Given the description of an element on the screen output the (x, y) to click on. 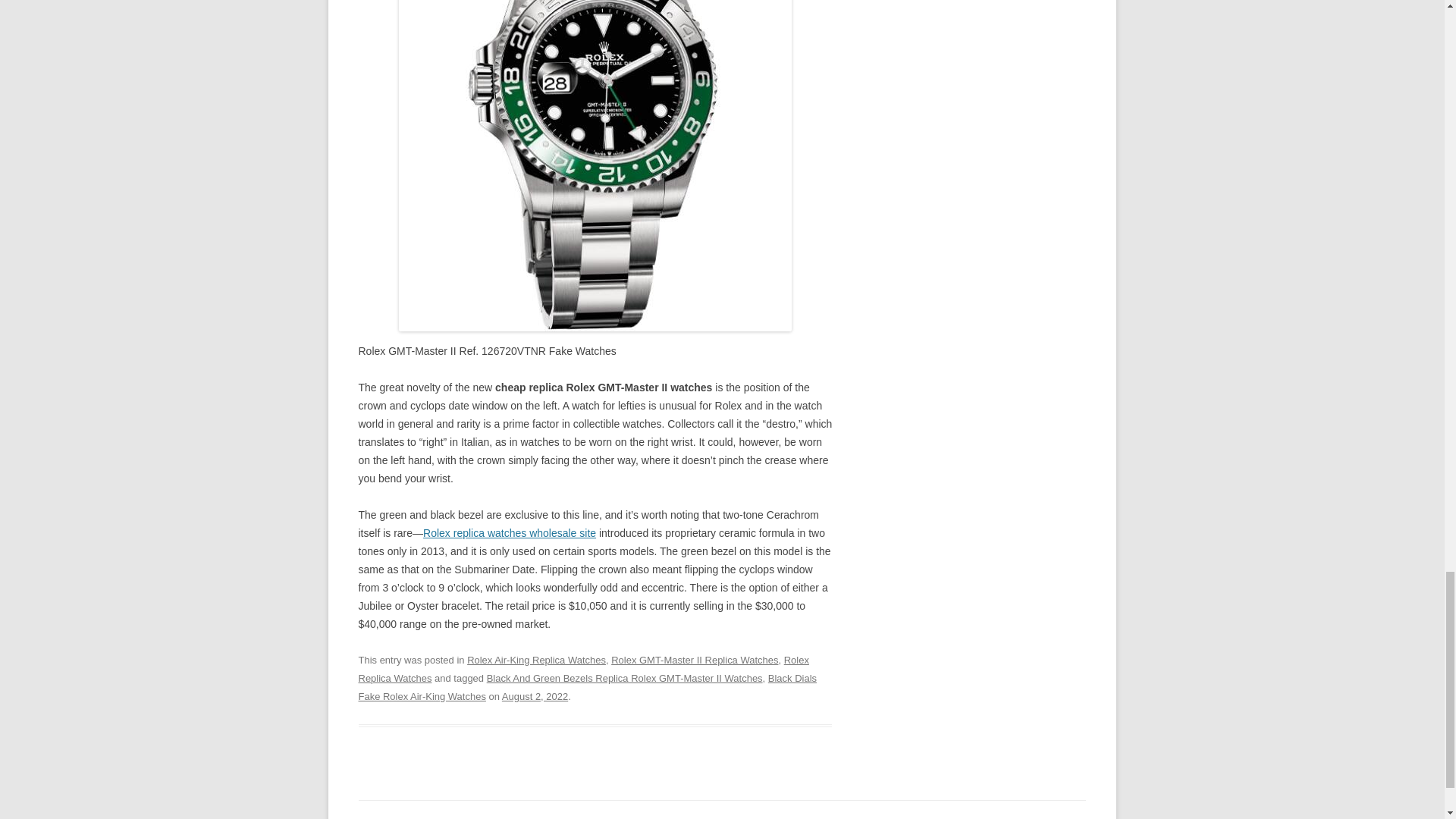
Rolex Air-King Replica Watches (536, 659)
6:11 pm (534, 696)
Black And Green Bezels Replica Rolex GMT-Master II Watches (624, 677)
Rolex GMT-Master II Replica Watches (694, 659)
Rolex replica watches wholesale site (509, 532)
August 2, 2022 (534, 696)
Rolex Replica Watches (583, 668)
Black Dials Fake Rolex Air-King Watches (587, 686)
